Given the description of an element on the screen output the (x, y) to click on. 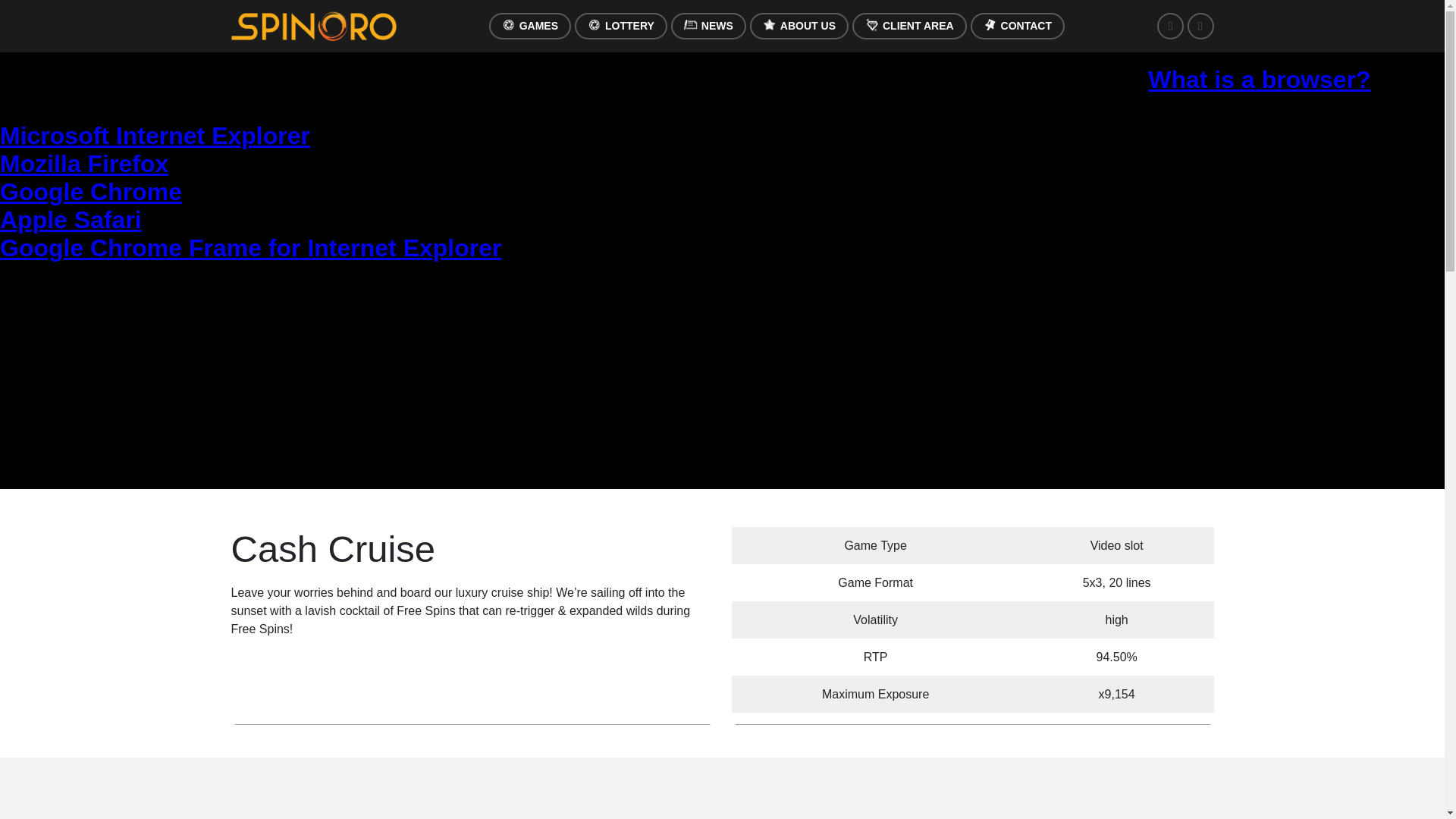
LOTTERY (620, 26)
CLIENT AREA (908, 26)
NEWS (708, 26)
GAMES (529, 26)
CONTACT (1017, 26)
ABOUT US (798, 26)
